Given the description of an element on the screen output the (x, y) to click on. 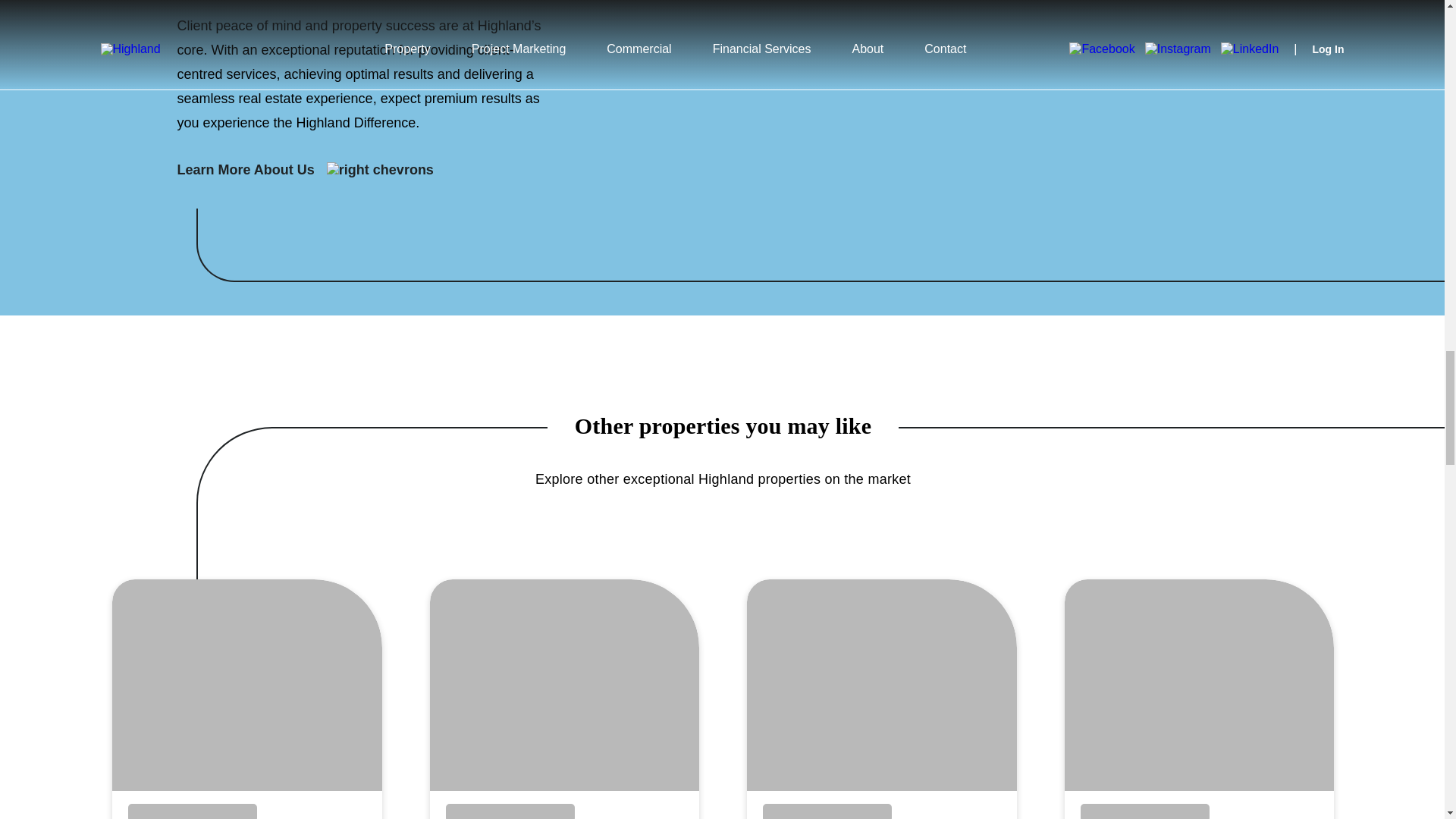
Learn More About Us (307, 170)
